Given the description of an element on the screen output the (x, y) to click on. 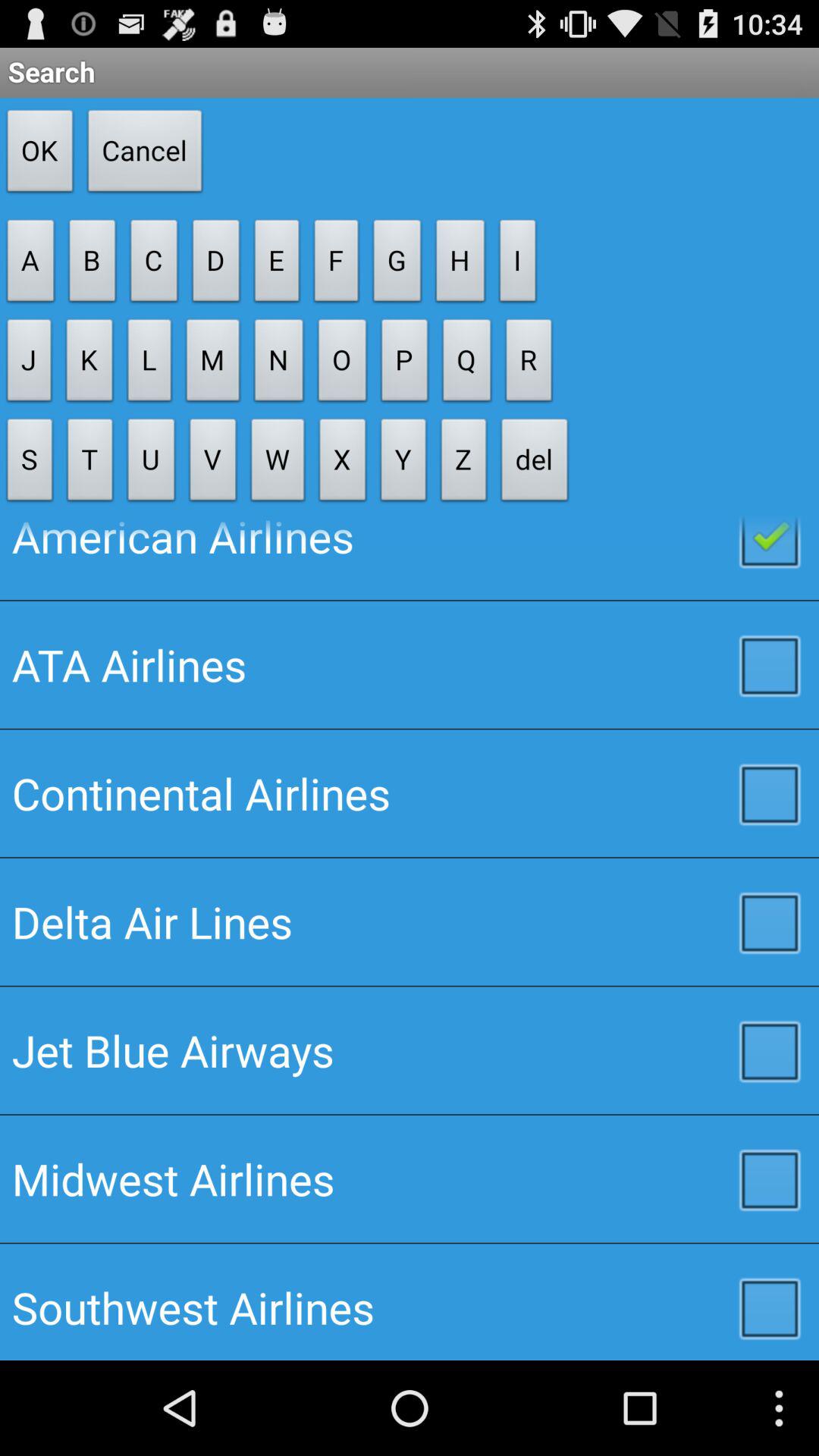
choose jet blue airways item (409, 1050)
